Given the description of an element on the screen output the (x, y) to click on. 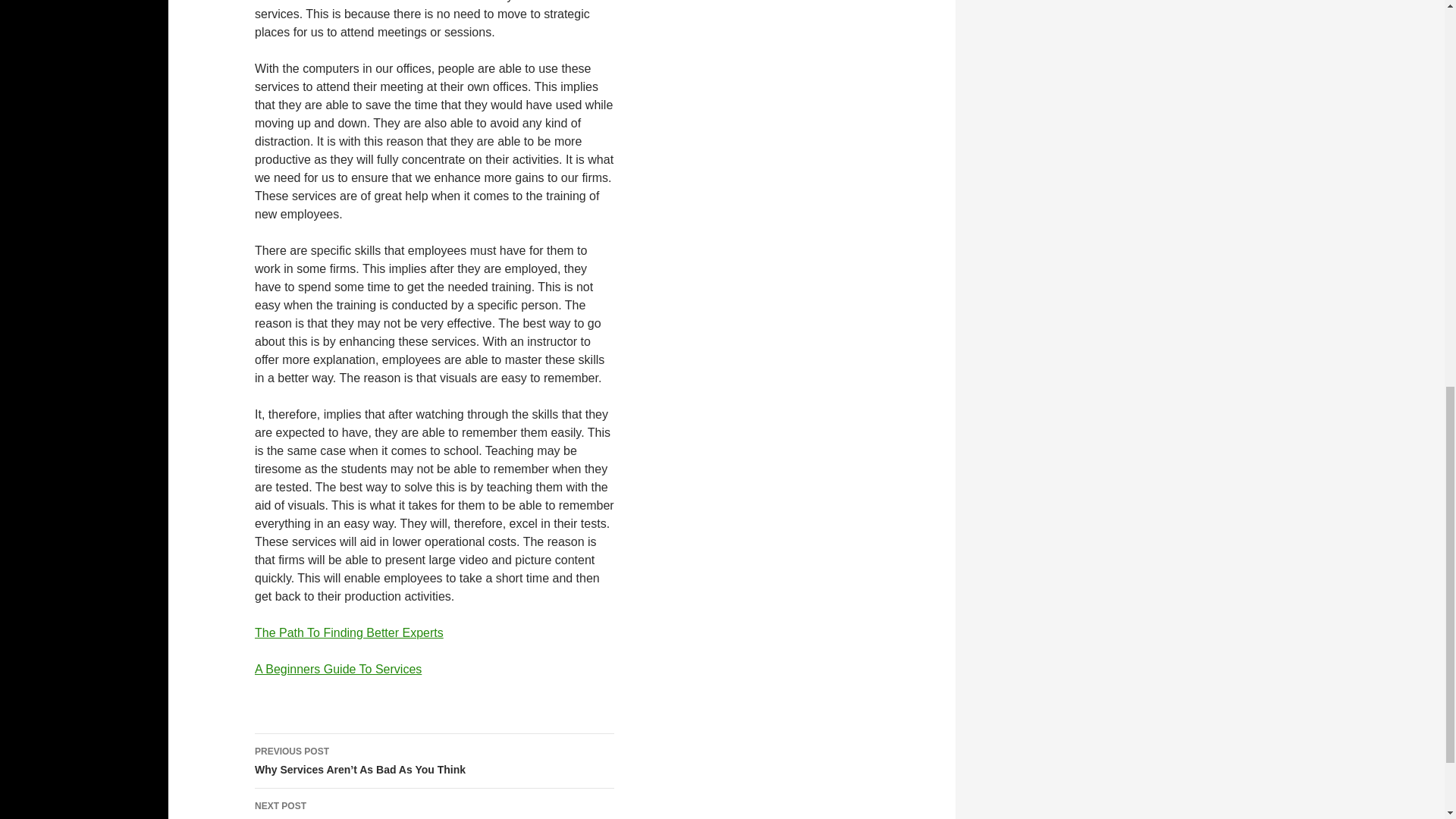
A Beginners Guide To Services (434, 803)
The Path To Finding Better Experts (338, 668)
